Given the description of an element on the screen output the (x, y) to click on. 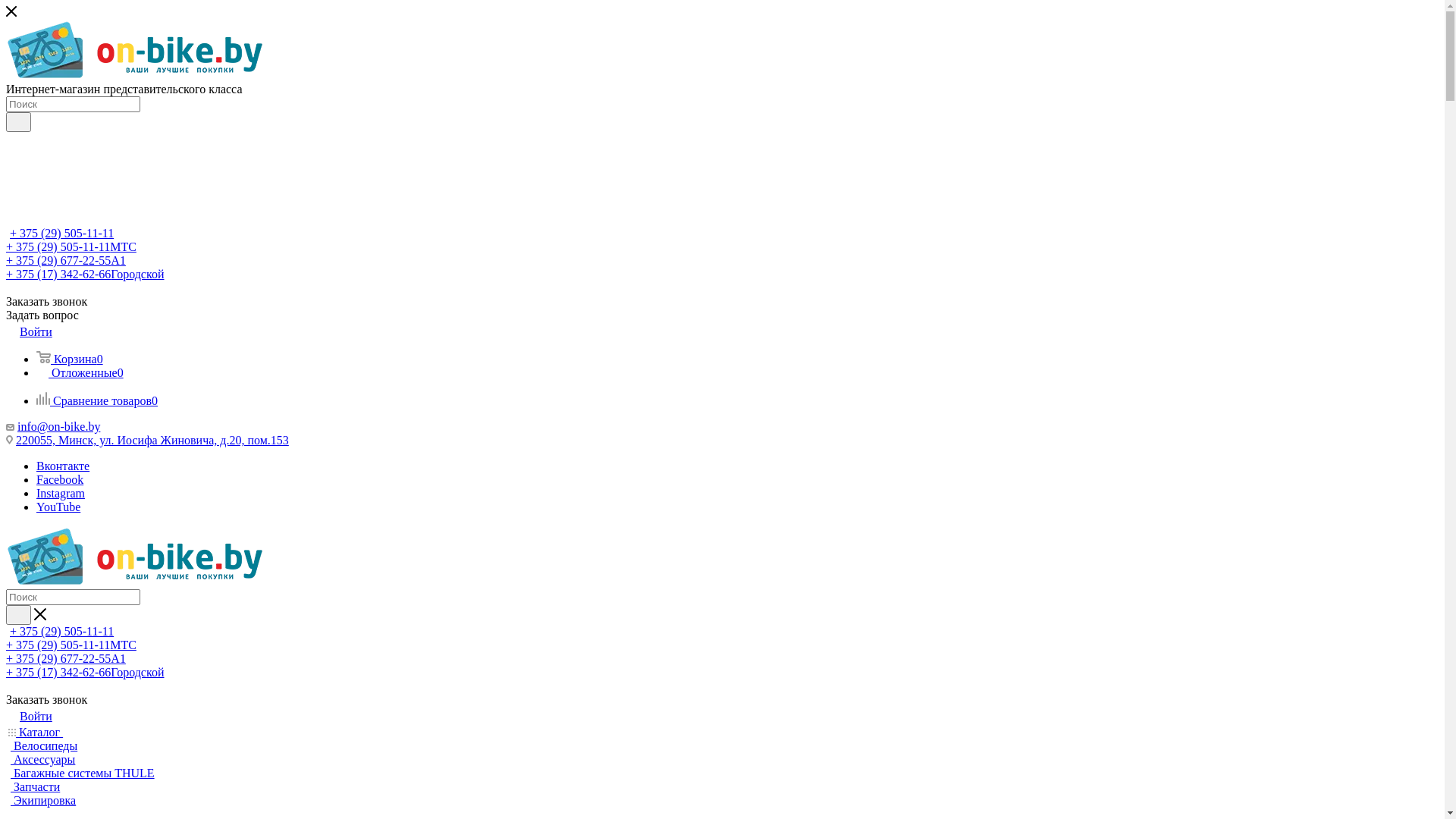
Facebook Element type: text (59, 479)
YouTube Element type: text (58, 506)
+ 375 (29) 677-22-55A1 Element type: text (65, 658)
Instagram Element type: text (60, 492)
+ 375 (29) 677-22-55A1 Element type: text (65, 260)
+ 375 (29) 505-11-11 Element type: text (61, 630)
+ 375 (29) 505-11-11 Element type: text (61, 232)
info@on-bike.by Element type: text (58, 426)
